Given the description of an element on the screen output the (x, y) to click on. 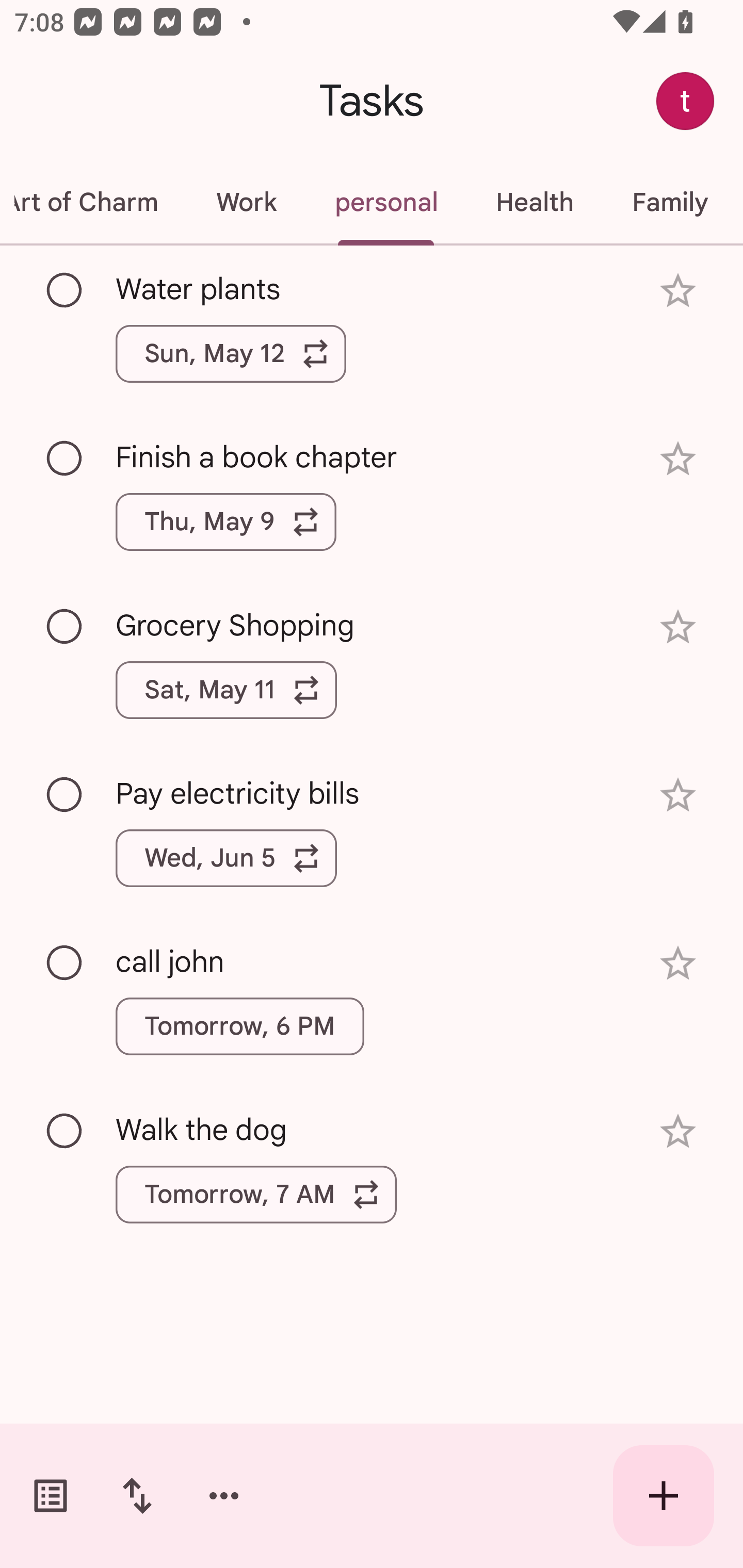
The Art of Charm (93, 202)
Work (245, 202)
Health (534, 202)
Family (669, 202)
Add star (677, 290)
Mark as complete (64, 290)
Sun, May 12 (230, 353)
Add star (677, 458)
Mark as complete (64, 459)
Thu, May 9 (225, 522)
Add star (677, 627)
Mark as complete (64, 627)
Sat, May 11 (225, 689)
Add star (677, 795)
Mark as complete (64, 794)
Wed, Jun 5 (225, 858)
Add star (677, 963)
Mark as complete (64, 963)
Tomorrow, 6 PM (239, 1026)
Add star (677, 1131)
Mark as complete (64, 1132)
Tomorrow, 7 AM (255, 1193)
Switch task lists (50, 1495)
Create new task (663, 1495)
Change sort order (136, 1495)
More options (223, 1495)
